Given the description of an element on the screen output the (x, y) to click on. 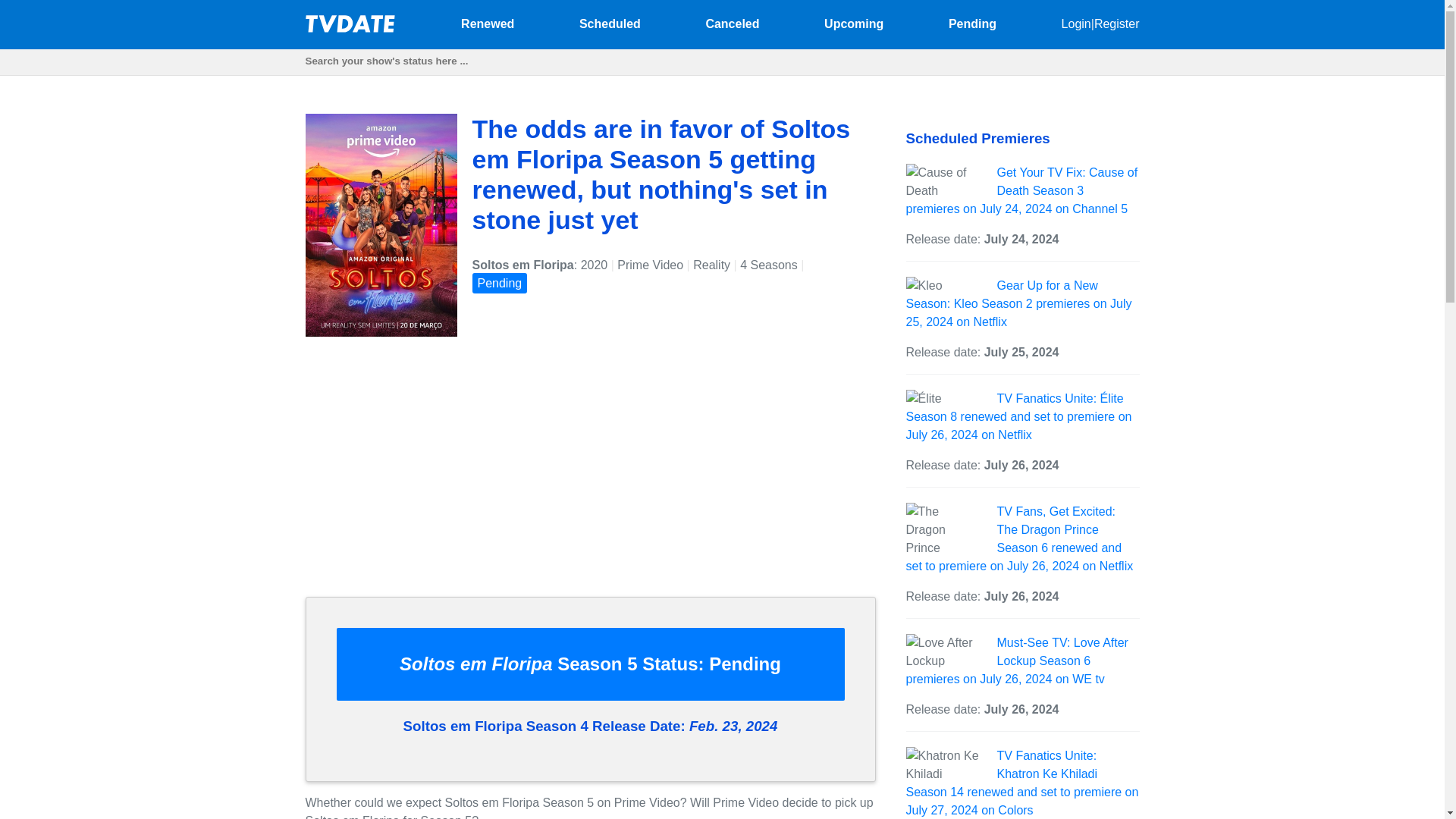
Pending (972, 23)
Canceled (731, 23)
Scheduled (609, 23)
Register (1117, 23)
Upcoming (853, 23)
Login (1075, 23)
Advertisement (589, 478)
Renewed (487, 23)
